Given the description of an element on the screen output the (x, y) to click on. 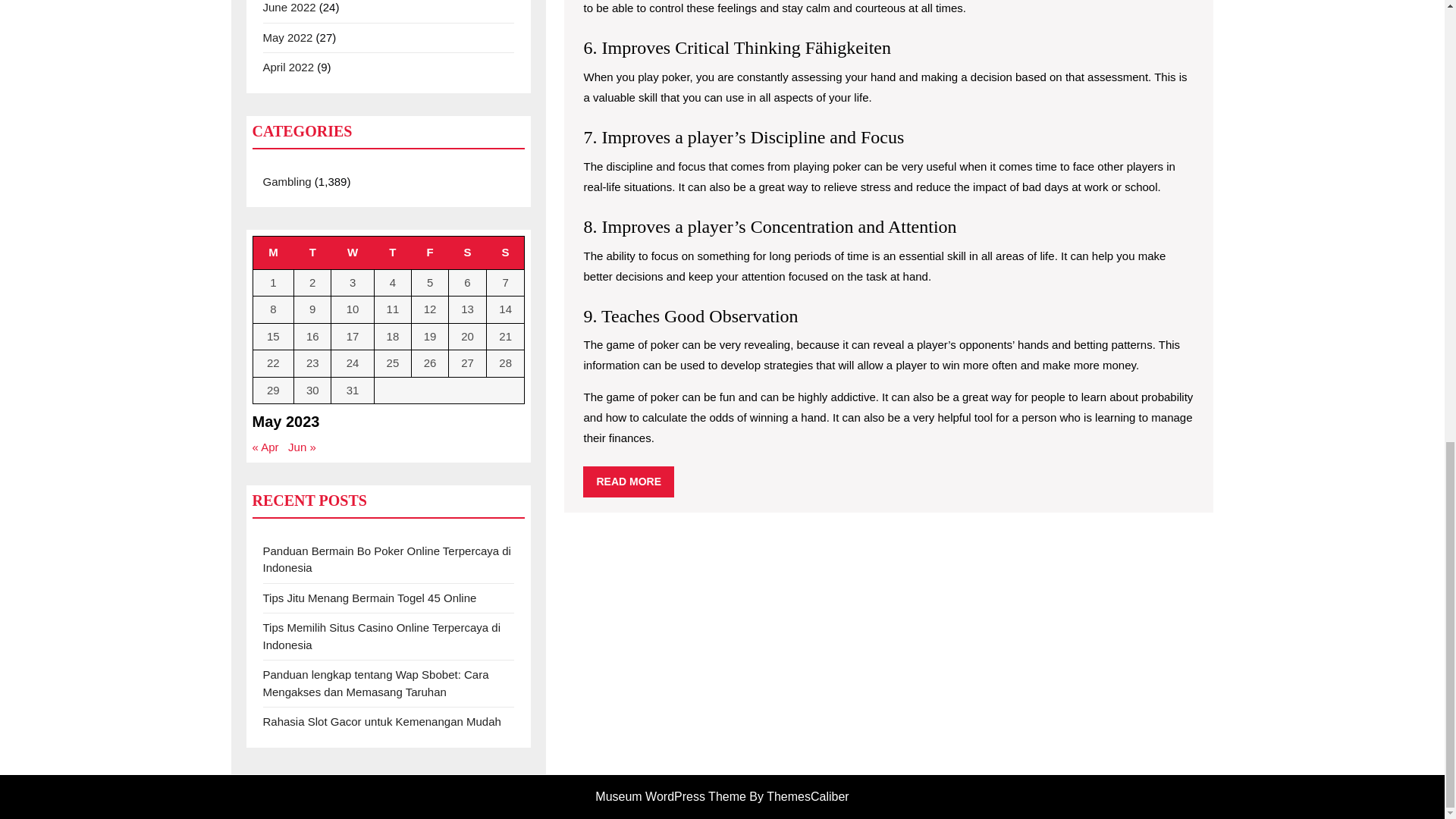
Tuesday (312, 252)
Wednesday (352, 252)
Gambling (286, 181)
June 2022 (288, 6)
Monday (272, 252)
Friday (430, 252)
May 2022 (287, 37)
April 2022 (288, 66)
Saturday (467, 252)
Sunday (505, 252)
Thursday (392, 252)
